Given the description of an element on the screen output the (x, y) to click on. 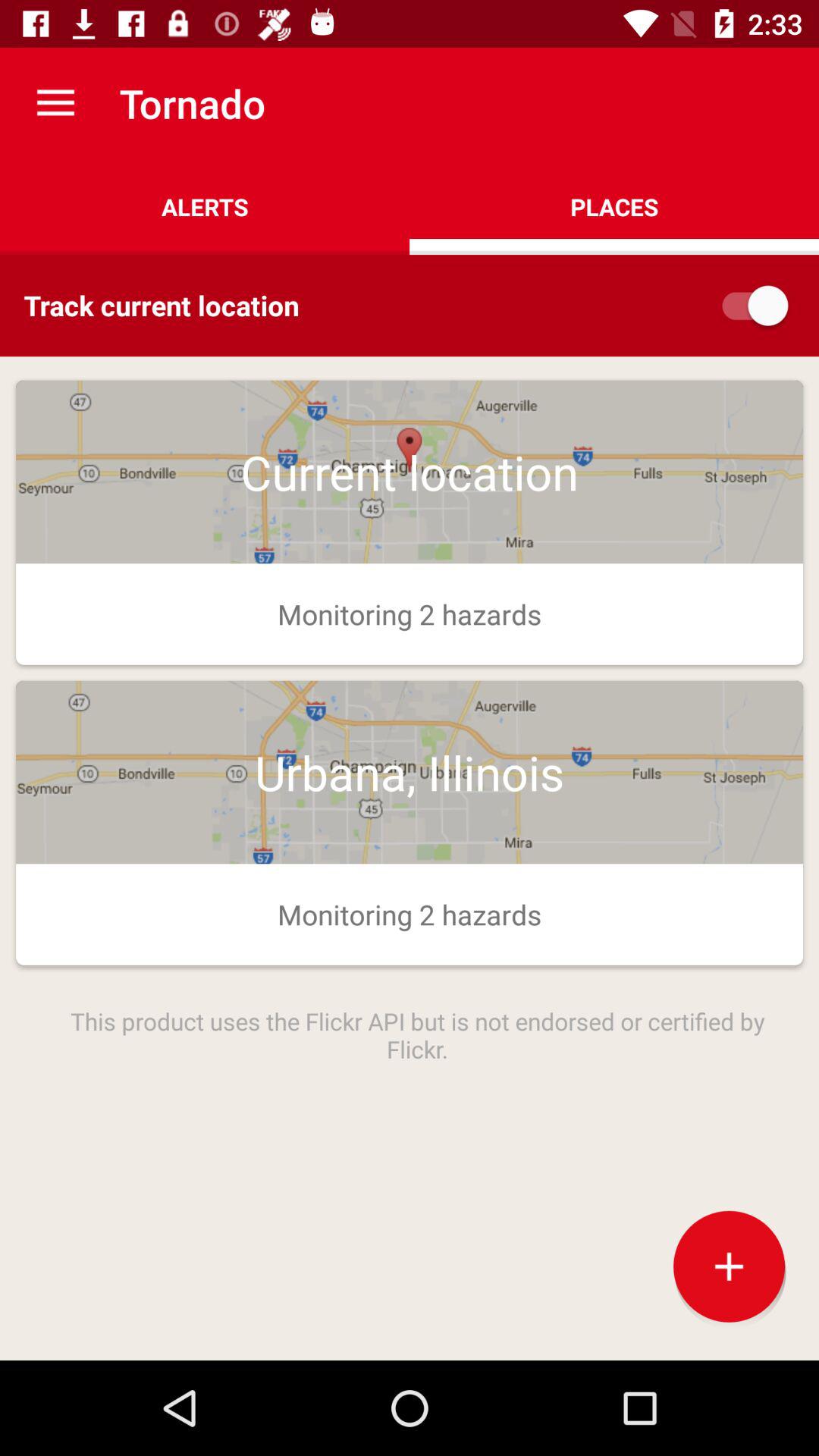
open the places item (614, 206)
